Given the description of an element on the screen output the (x, y) to click on. 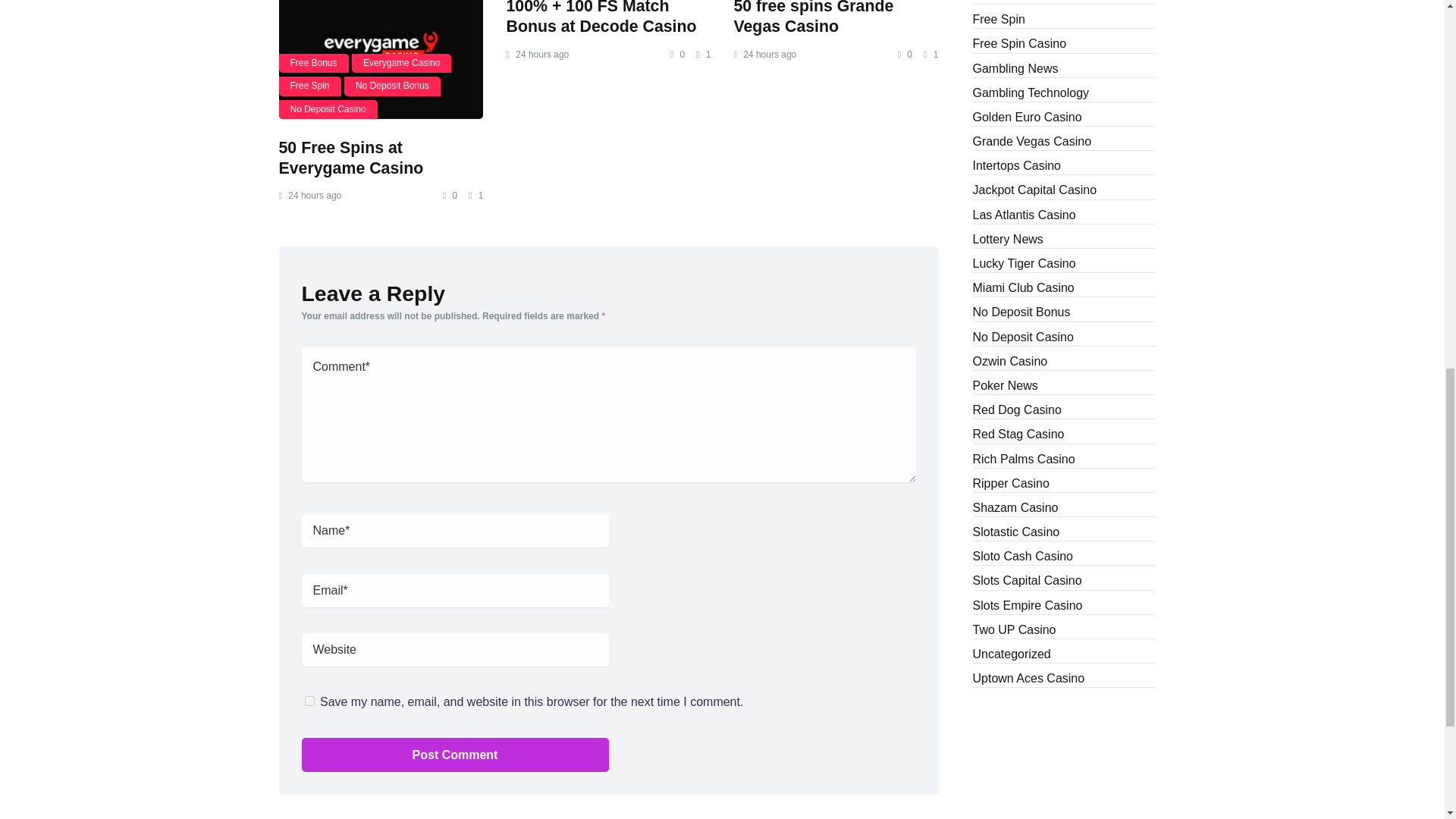
Free Bonus (314, 63)
50 Free Spins at Everygame Casino (381, 59)
Post Comment (454, 754)
Post Comment (454, 754)
No Deposit Casino (328, 108)
50 Free Spins at Everygame Casino (351, 157)
No Deposit Bonus (392, 85)
50 free spins Grande Vegas Casino (813, 18)
50 Free Spins at Everygame Casino (351, 157)
yes (309, 700)
